Given the description of an element on the screen output the (x, y) to click on. 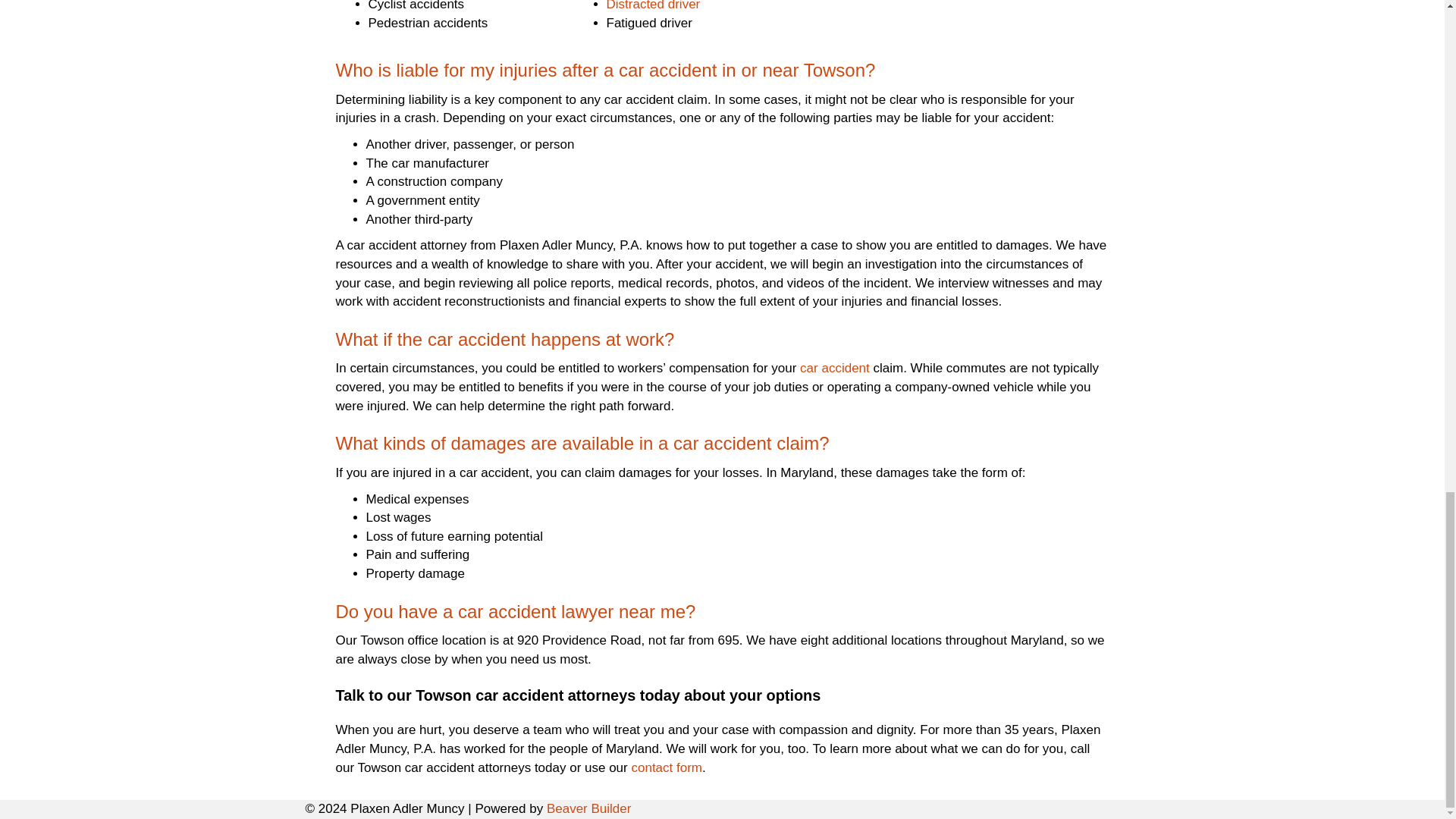
WordPress Page Builder Plugin (589, 808)
